Given the description of an element on the screen output the (x, y) to click on. 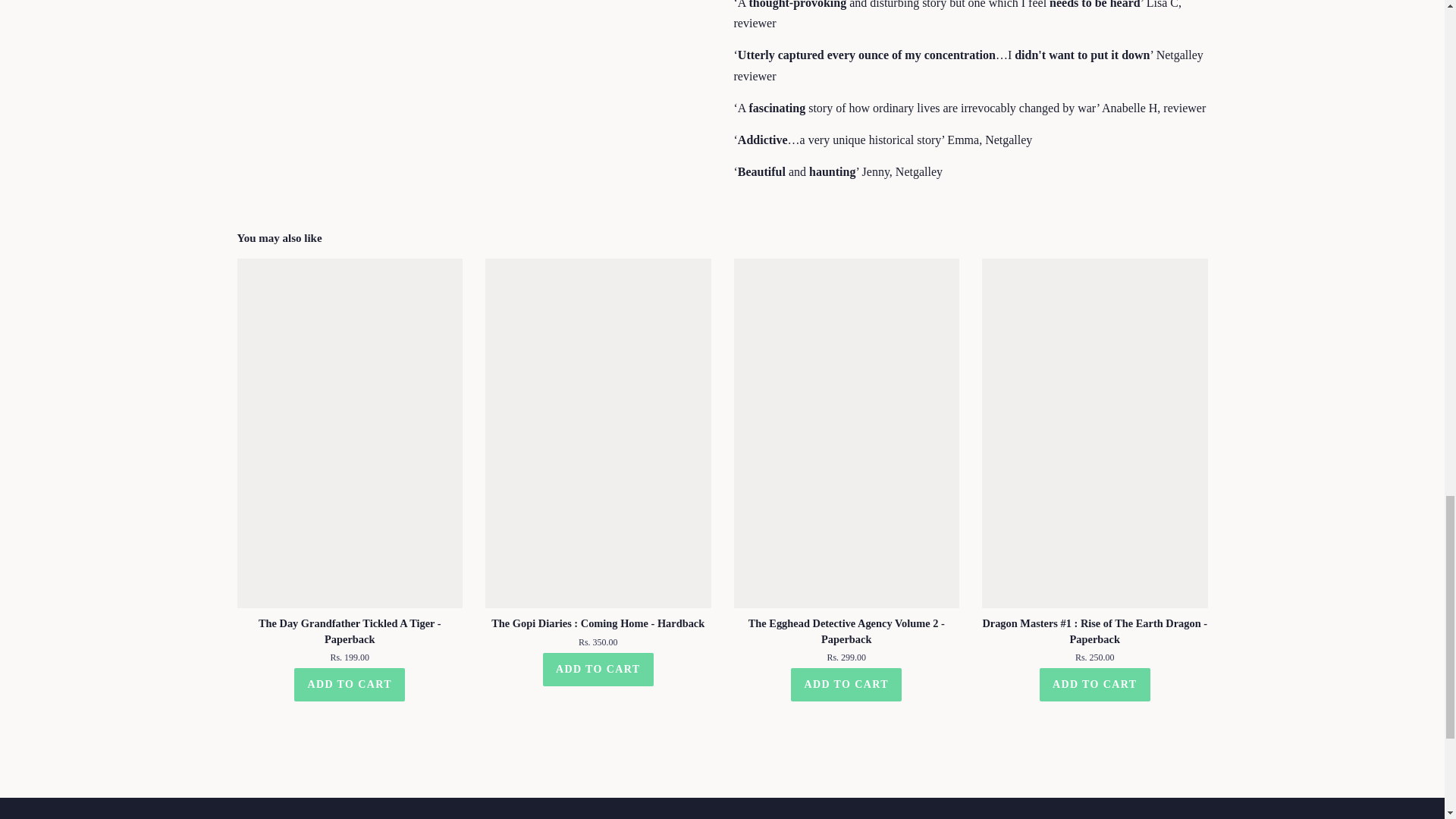
Add to cart (598, 668)
Add to cart (349, 684)
Add to cart (845, 684)
Add to cart (1094, 684)
